Given the description of an element on the screen output the (x, y) to click on. 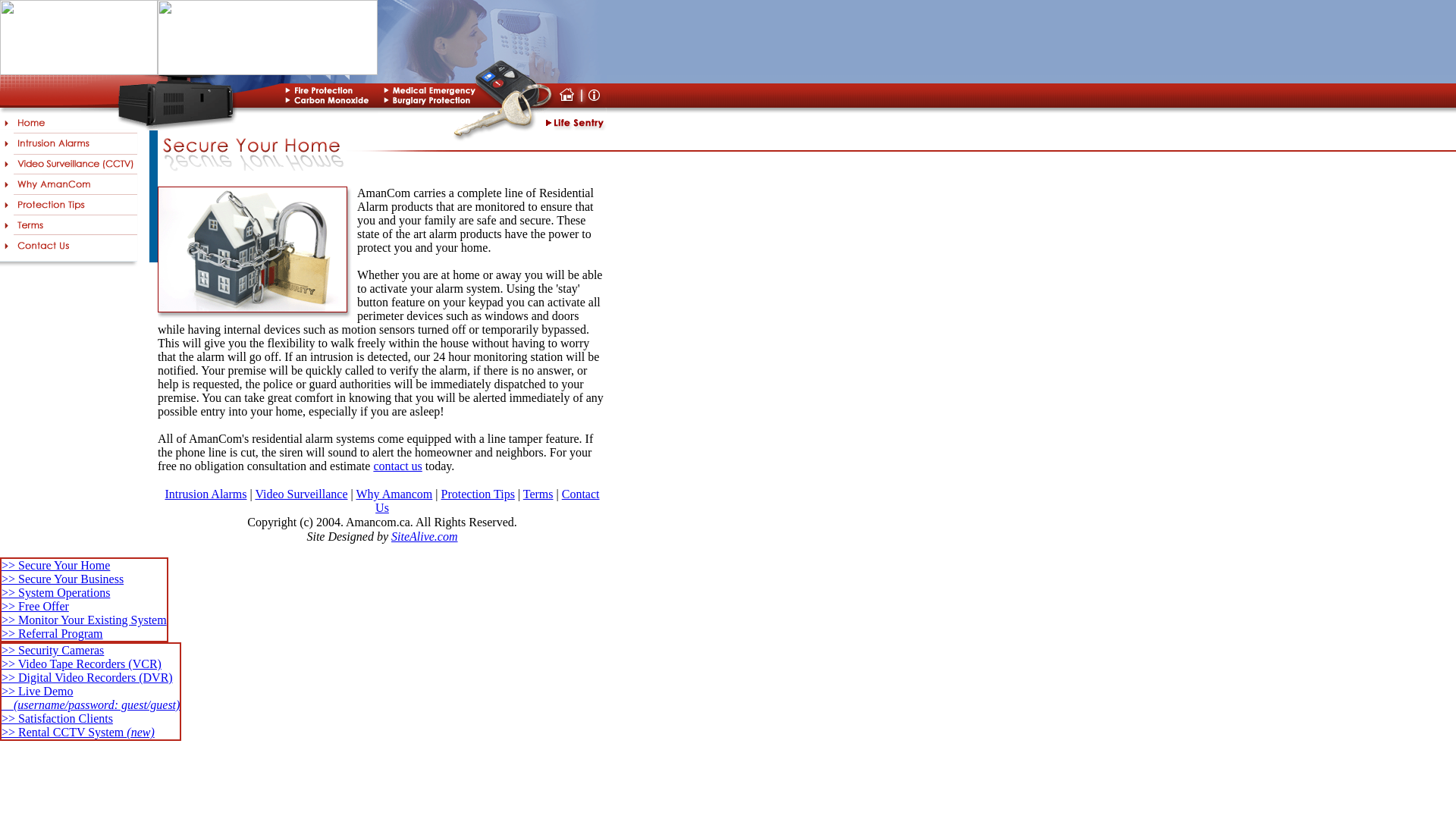
Video Surveillance Element type: text (300, 493)
contact us Element type: text (397, 465)
>> Video Tape Recorders (VCR) Element type: text (81, 663)
>> System Operations Element type: text (55, 592)
Why Amancom Element type: text (393, 493)
>> Satisfaction Clients Element type: text (56, 718)
>> Secure Your Business Element type: text (62, 578)
>> Referral Program Element type: text (52, 633)
Intrusion Alarms Element type: text (205, 493)
Protection Tips Element type: text (477, 493)
Contact Us Element type: text (487, 500)
>> Digital Video Recorders (DVR) Element type: text (86, 677)
SiteAlive.com Element type: text (424, 535)
>> Rental CCTV System (new) Element type: text (77, 731)
>> Live Demo
    (username/password: guest/guest) Element type: text (90, 697)
>> Secure Your Home Element type: text (55, 564)
>> Security Cameras Element type: text (52, 649)
>> Free Offer Element type: text (35, 605)
>> Monitor Your Existing System Element type: text (83, 619)
Terms Element type: text (538, 493)
